Given the description of an element on the screen output the (x, y) to click on. 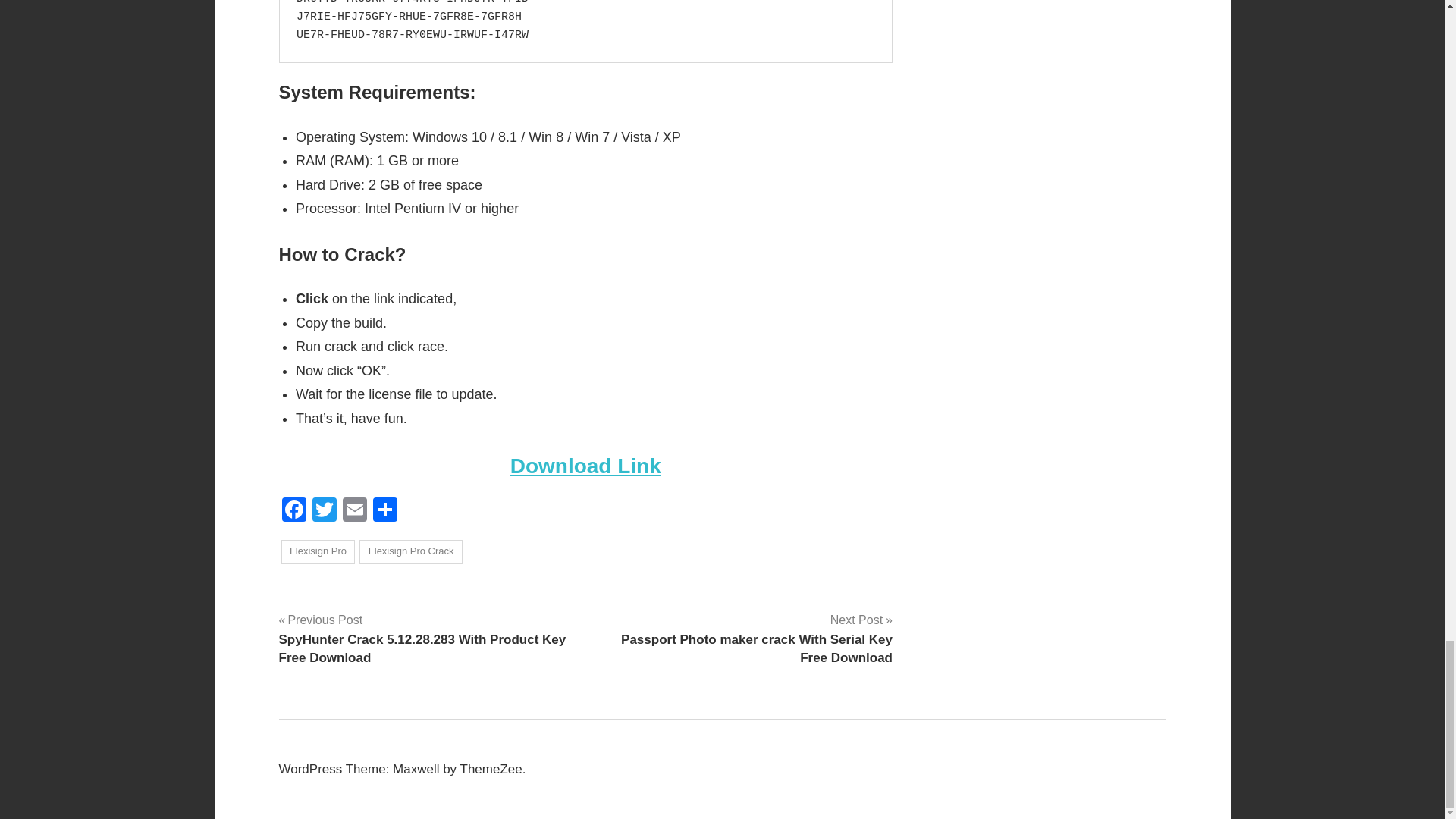
Facebook (293, 511)
Flexisign Pro (318, 552)
Email (354, 511)
Facebook (293, 511)
Email (354, 511)
Share (384, 511)
Flexisign Pro Crack (410, 552)
Twitter (323, 511)
Download Link (586, 465)
